Given the description of an element on the screen output the (x, y) to click on. 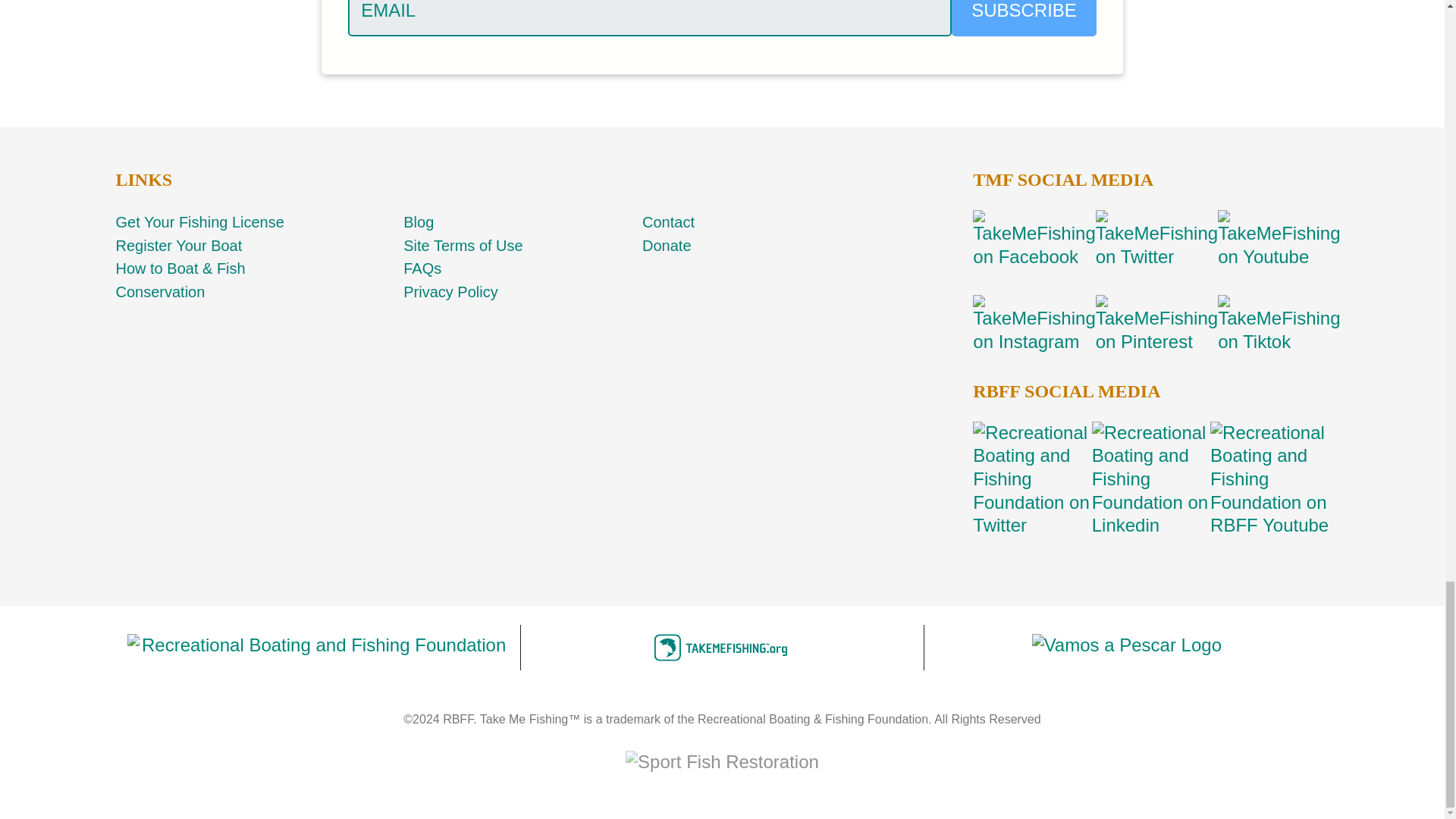
Subscribe (1024, 18)
